Given the description of an element on the screen output the (x, y) to click on. 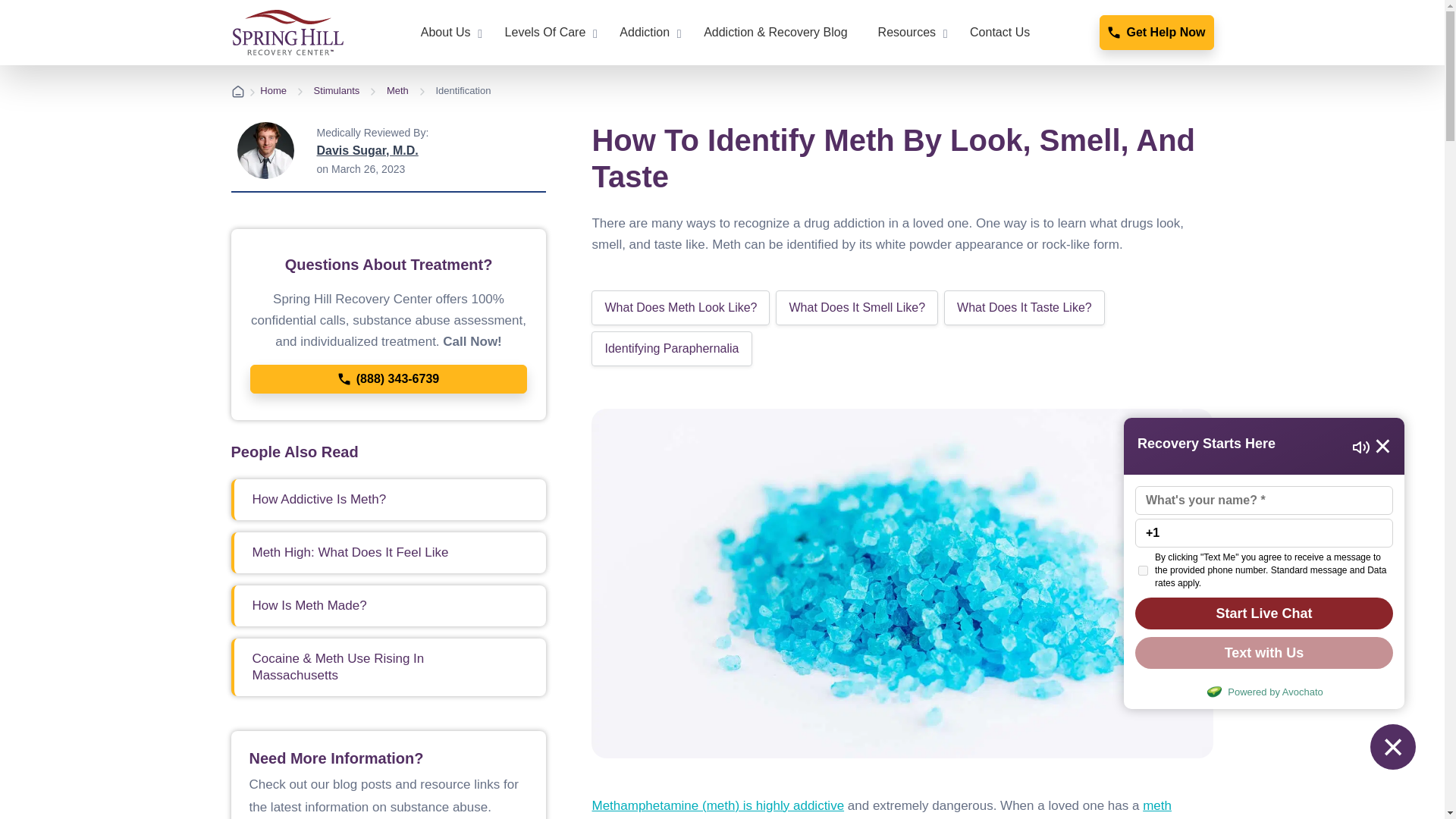
Addiction (646, 32)
Levels Of Care (547, 32)
About Us (447, 32)
